Given the description of an element on the screen output the (x, y) to click on. 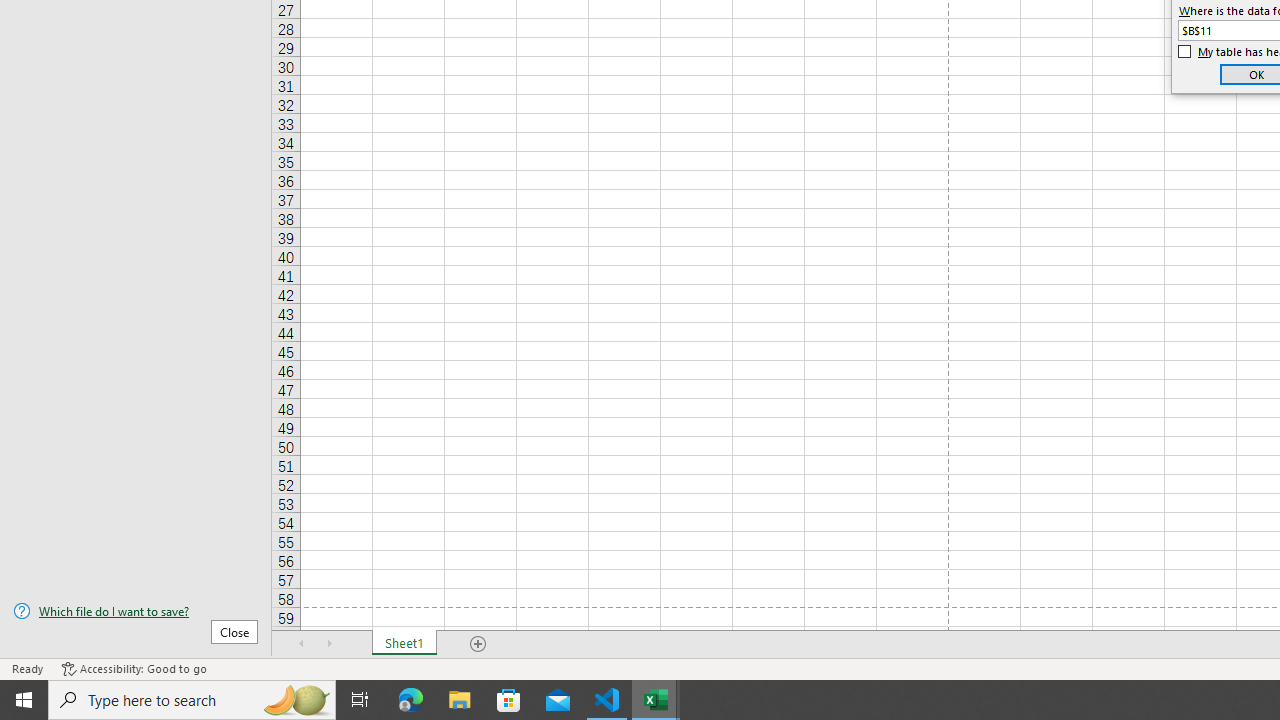
Scroll Right (330, 644)
Scroll Left (302, 644)
Add Sheet (478, 644)
Which file do I want to save? (136, 611)
Accessibility Checker Accessibility: Good to go (134, 668)
Close (234, 631)
Sheet1 (404, 644)
